Given the description of an element on the screen output the (x, y) to click on. 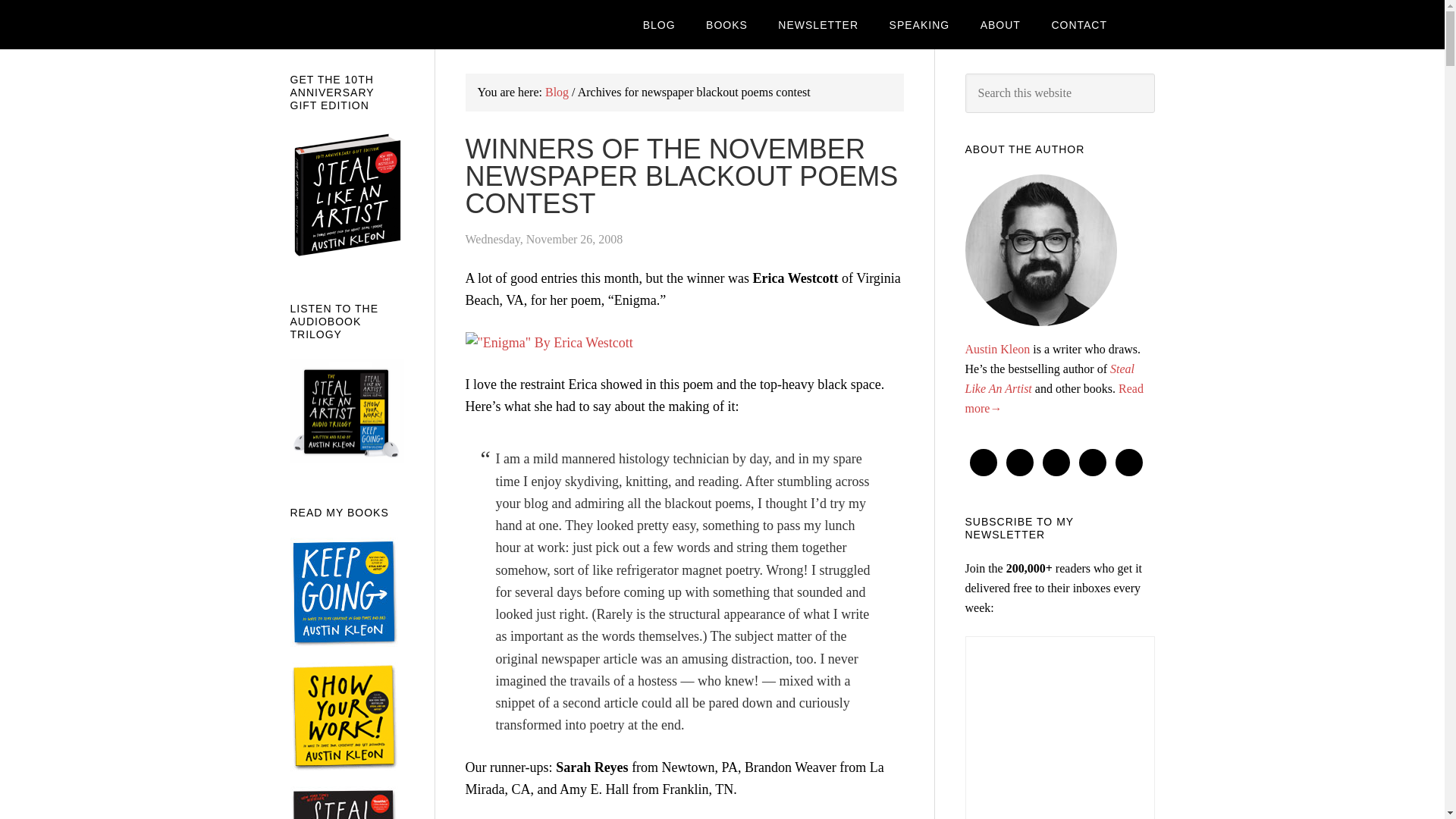
WINNERS OF THE NOVEMBER NEWSPAPER BLACKOUT POEMS CONTEST (681, 176)
NEWSLETTER (818, 24)
"Enigma" By Erica Westcott by Austin Kleon, on Flickr (549, 342)
BOOKS (727, 24)
BLOG (658, 24)
AUSTIN KLEON (410, 24)
Amy E. Hall (593, 789)
Blog (556, 91)
ABOUT (999, 24)
Brandon Weaver (789, 767)
CONTACT (1078, 24)
Read my books (727, 24)
SPEAKING (919, 24)
